Given the description of an element on the screen output the (x, y) to click on. 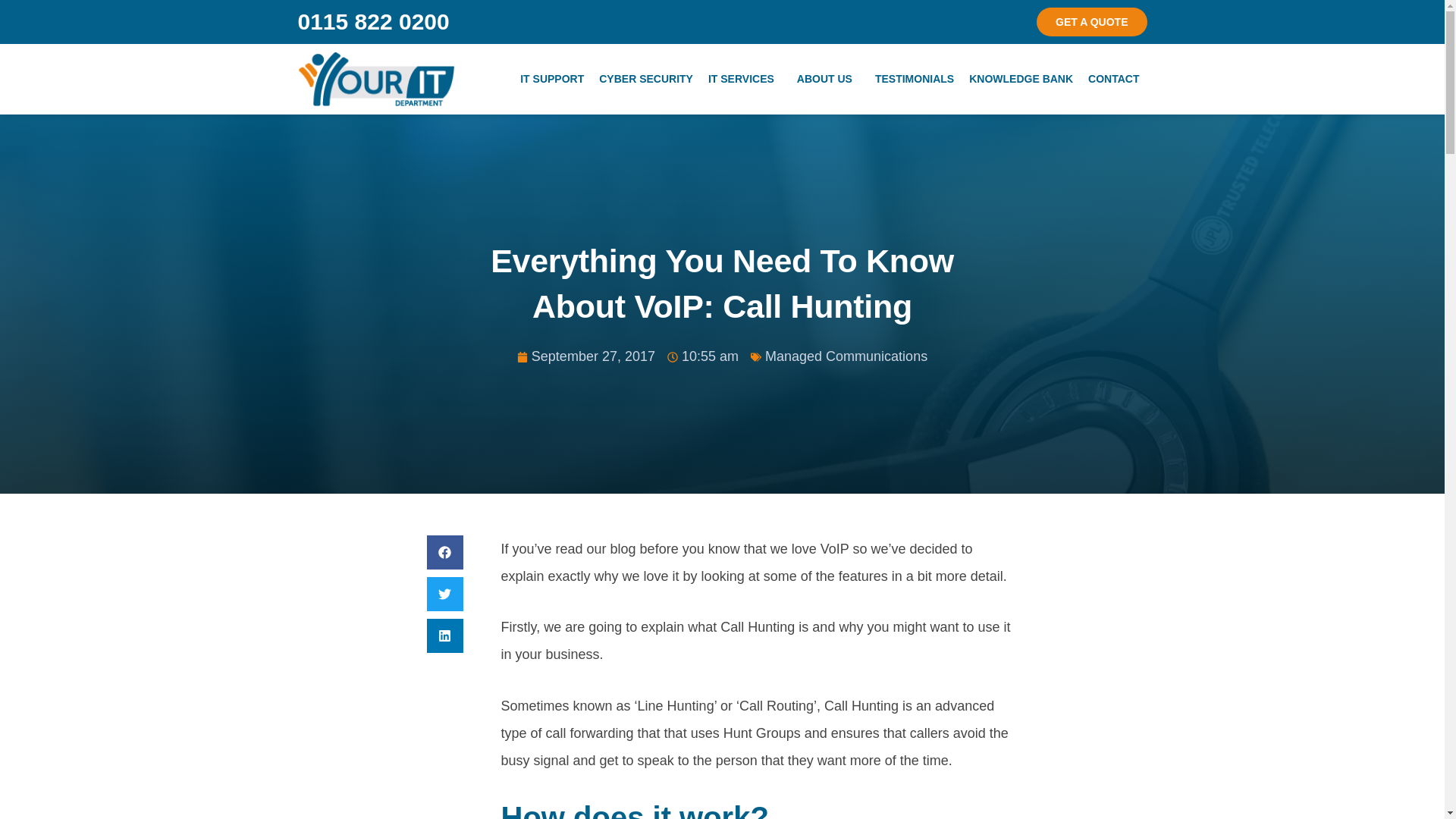
0115 822 0200 (372, 21)
GET A QUOTE (1091, 21)
ABOUT US (828, 78)
CYBER SECURITY (645, 78)
IT SERVICES (744, 78)
IT SUPPORT (551, 78)
TESTIMONIALS (913, 78)
September 27, 2017 (585, 356)
KNOWLEDGE BANK (1020, 78)
CONTACT (1113, 78)
Managed Communications (846, 355)
